Given the description of an element on the screen output the (x, y) to click on. 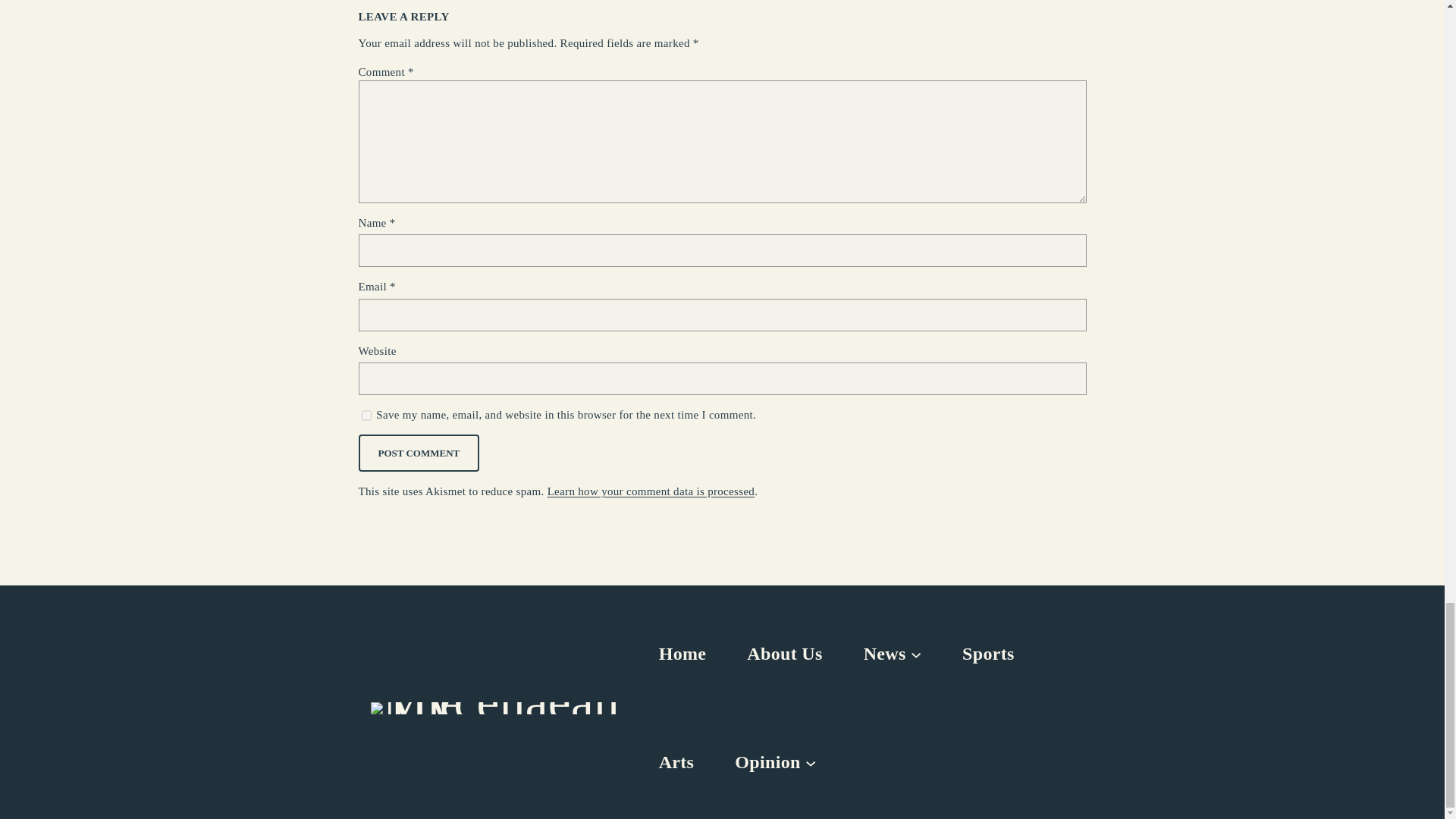
Post Comment (418, 452)
yes (366, 415)
Post Comment (418, 452)
About Us (784, 653)
Learn how your comment data is processed (651, 491)
